Given the description of an element on the screen output the (x, y) to click on. 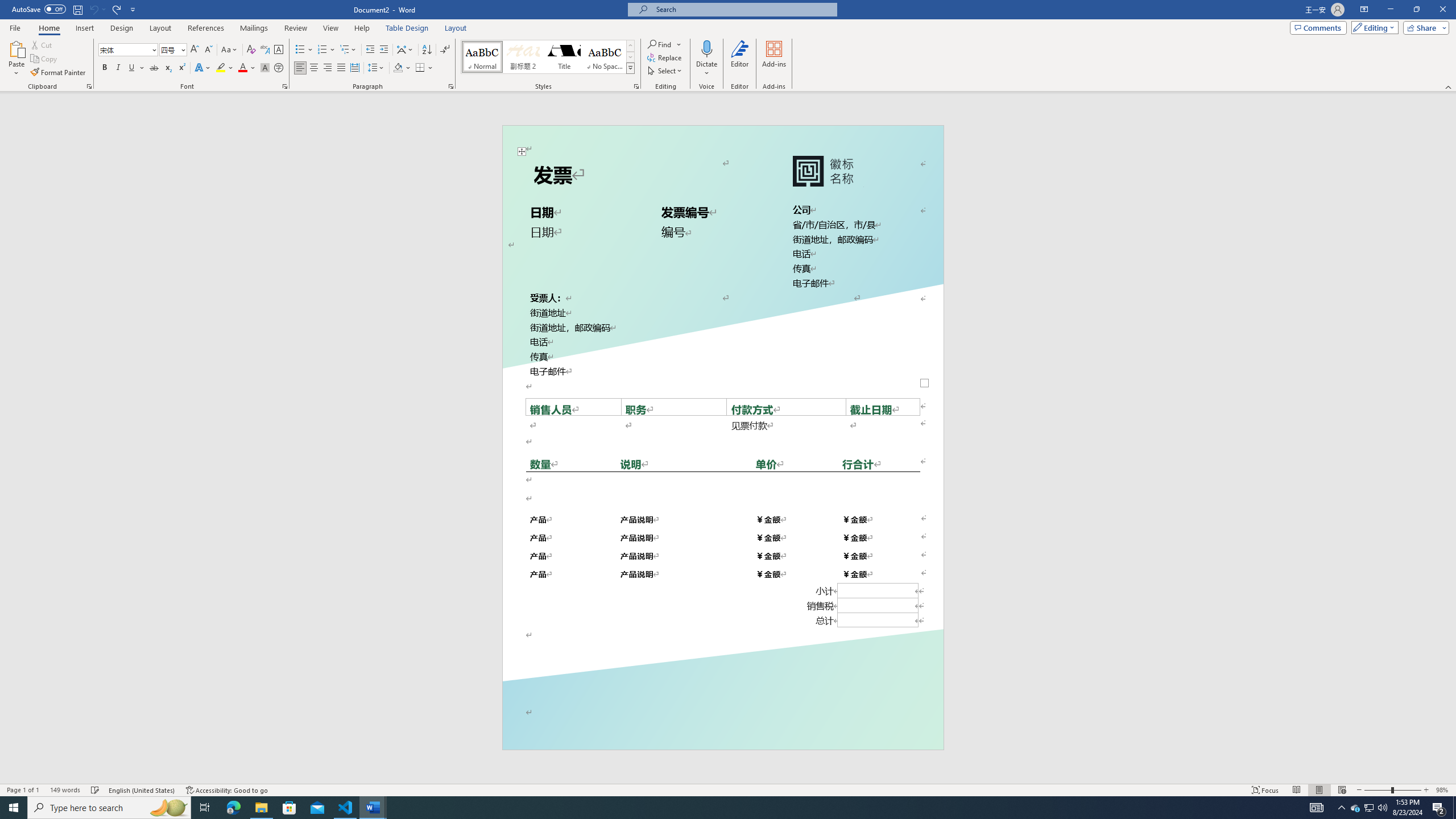
Zoom 98% (1443, 790)
